Given the description of an element on the screen output the (x, y) to click on. 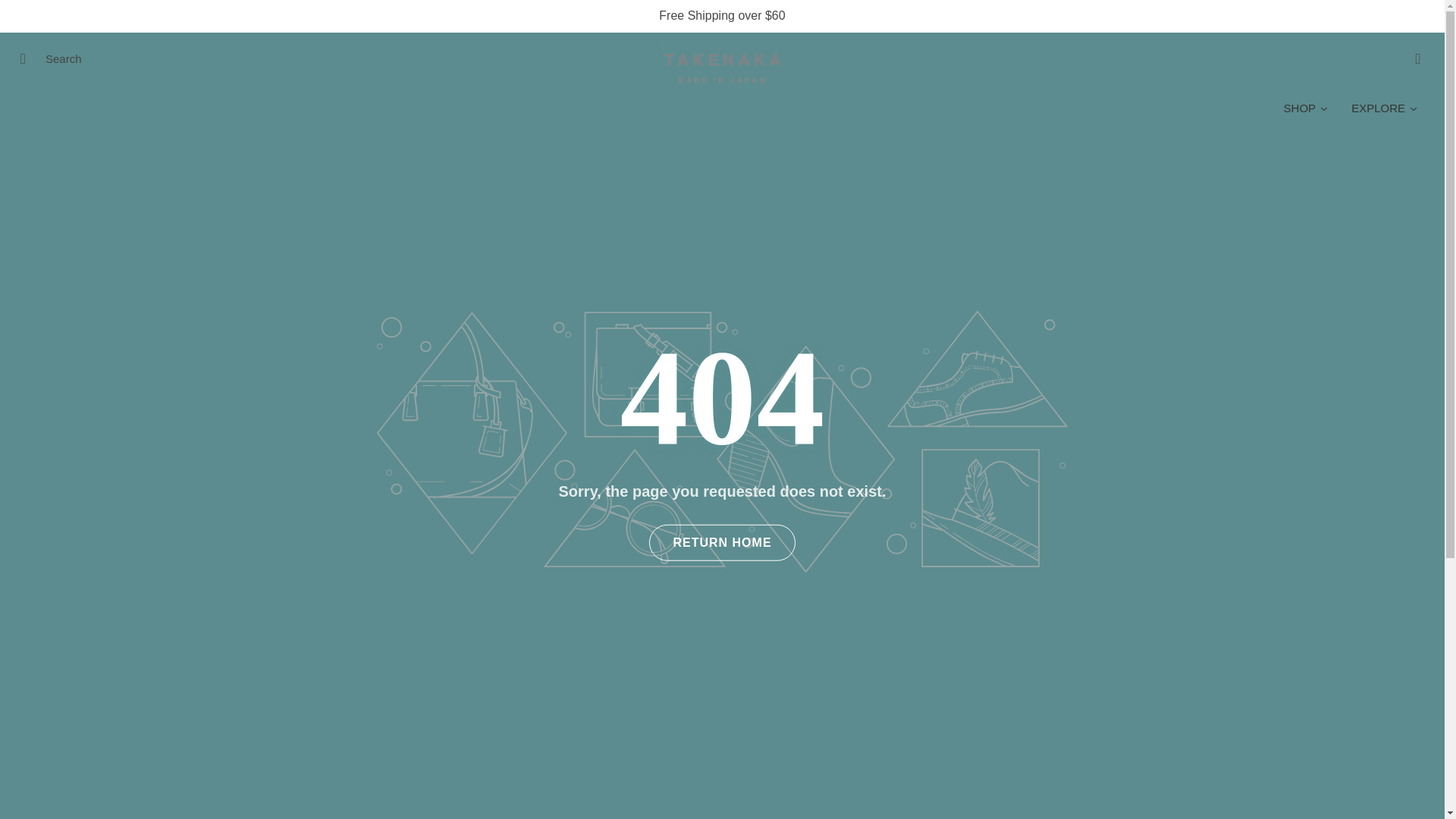
You have 0 items in your cart (1417, 58)
Search (28, 58)
EXPLORE (1384, 108)
SHOP (1306, 108)
EXPLORE (1384, 108)
SHOP (1306, 108)
RETURN HOME (721, 542)
